Given the description of an element on the screen output the (x, y) to click on. 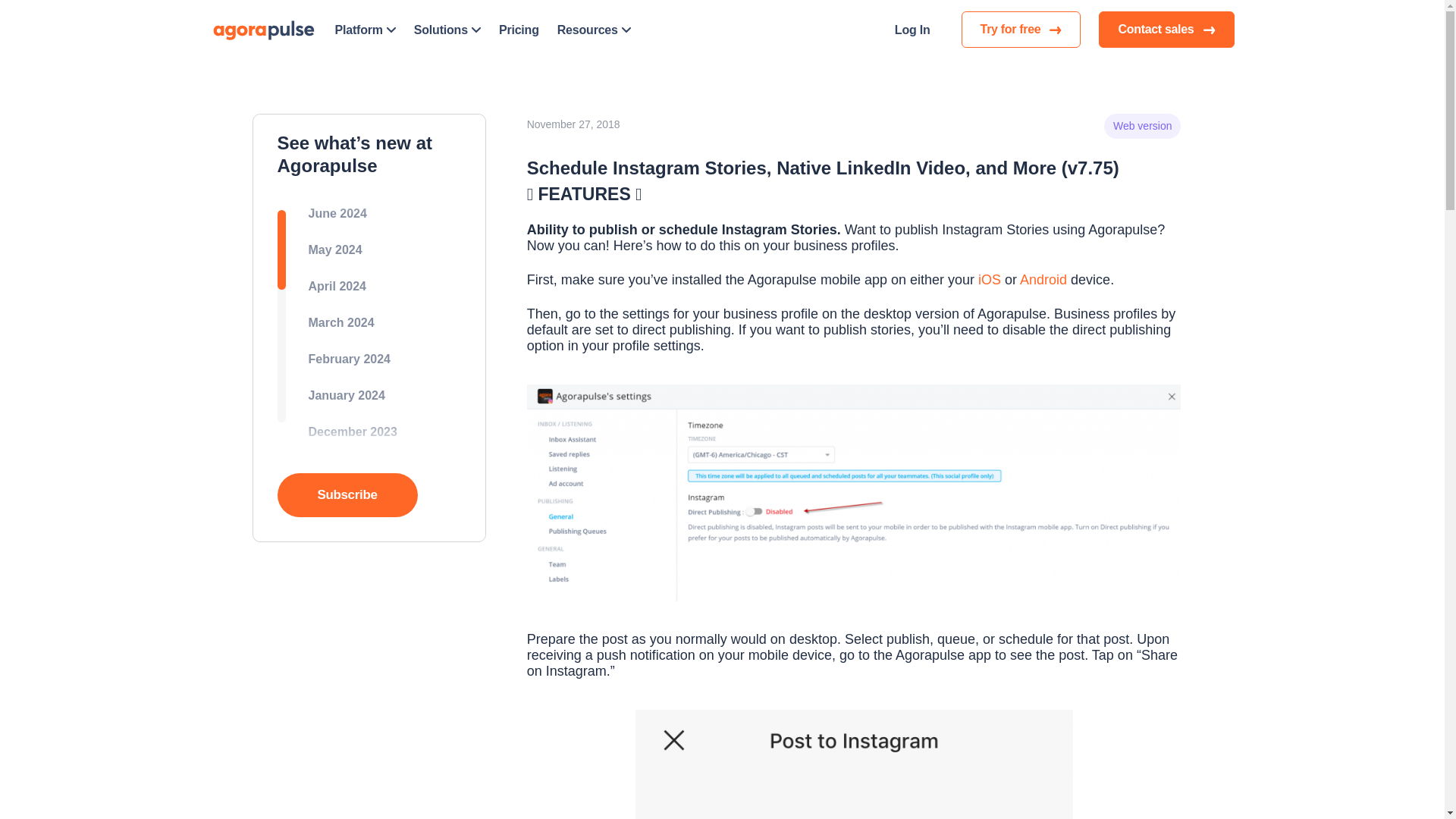
Try for free (1020, 29)
Log In (912, 29)
Platform (365, 29)
Solutions (446, 29)
Resources (593, 29)
Pricing (518, 29)
agorapulse (264, 29)
